Given the description of an element on the screen output the (x, y) to click on. 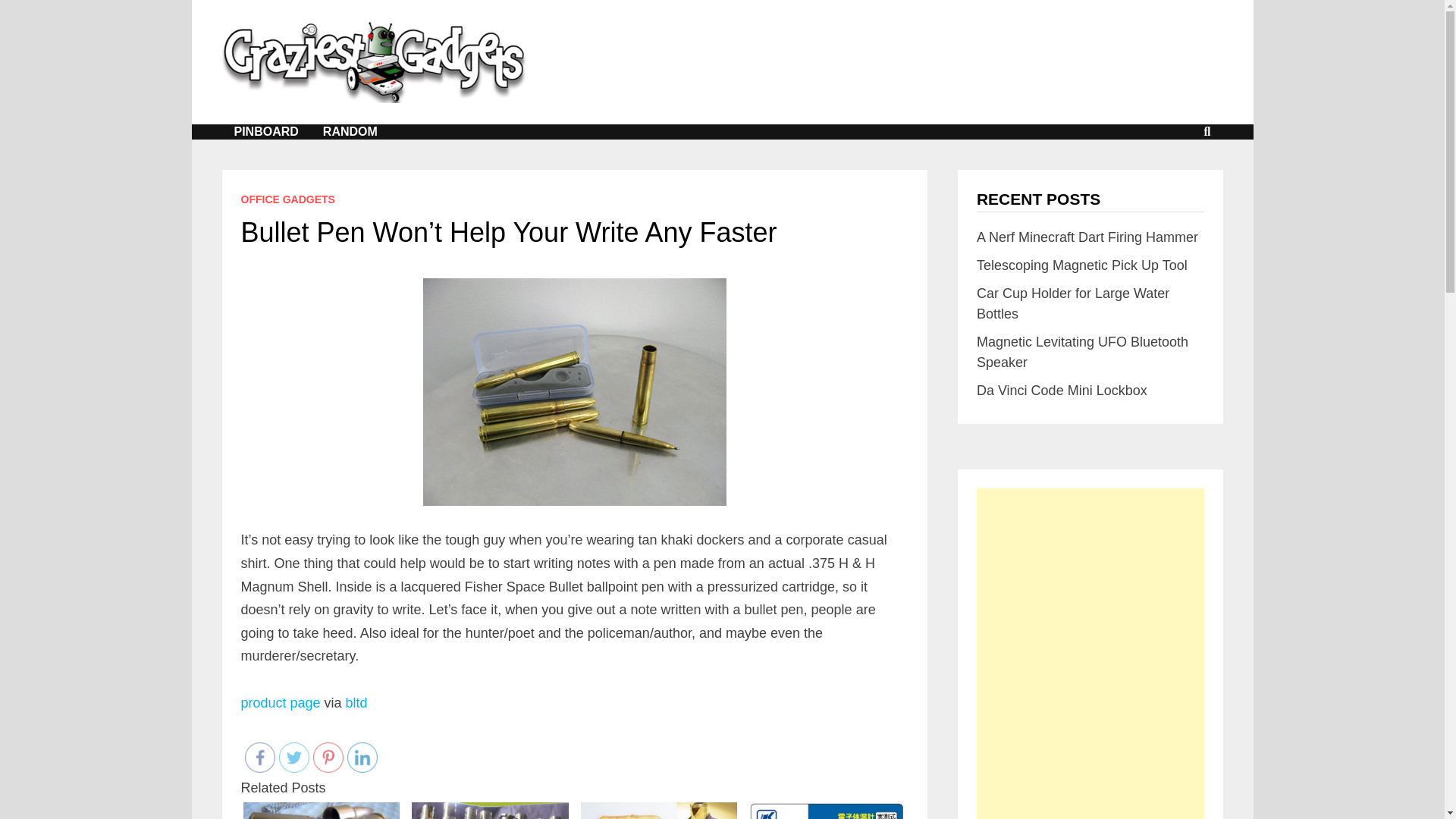
Bullet Train Thermometer (827, 809)
RANDOM (350, 131)
Friendly Fire: Bullet Buddies are Toys Made from Bullets (490, 810)
OFFICE GADGETS (287, 199)
Bullet USB Flash Drive is World's Fastest (320, 810)
PINBOARD (265, 131)
LinkedIn (362, 757)
Bullet USB Flash Drive is World's Fastest (322, 809)
Bullet Train Thermometer (827, 810)
Friendly Fire: Bullet Buddies are Toys Made from Bullets (489, 809)
Twitter (293, 757)
bullet-pen (574, 392)
product page (280, 702)
bltd (357, 702)
